Given the description of an element on the screen output the (x, y) to click on. 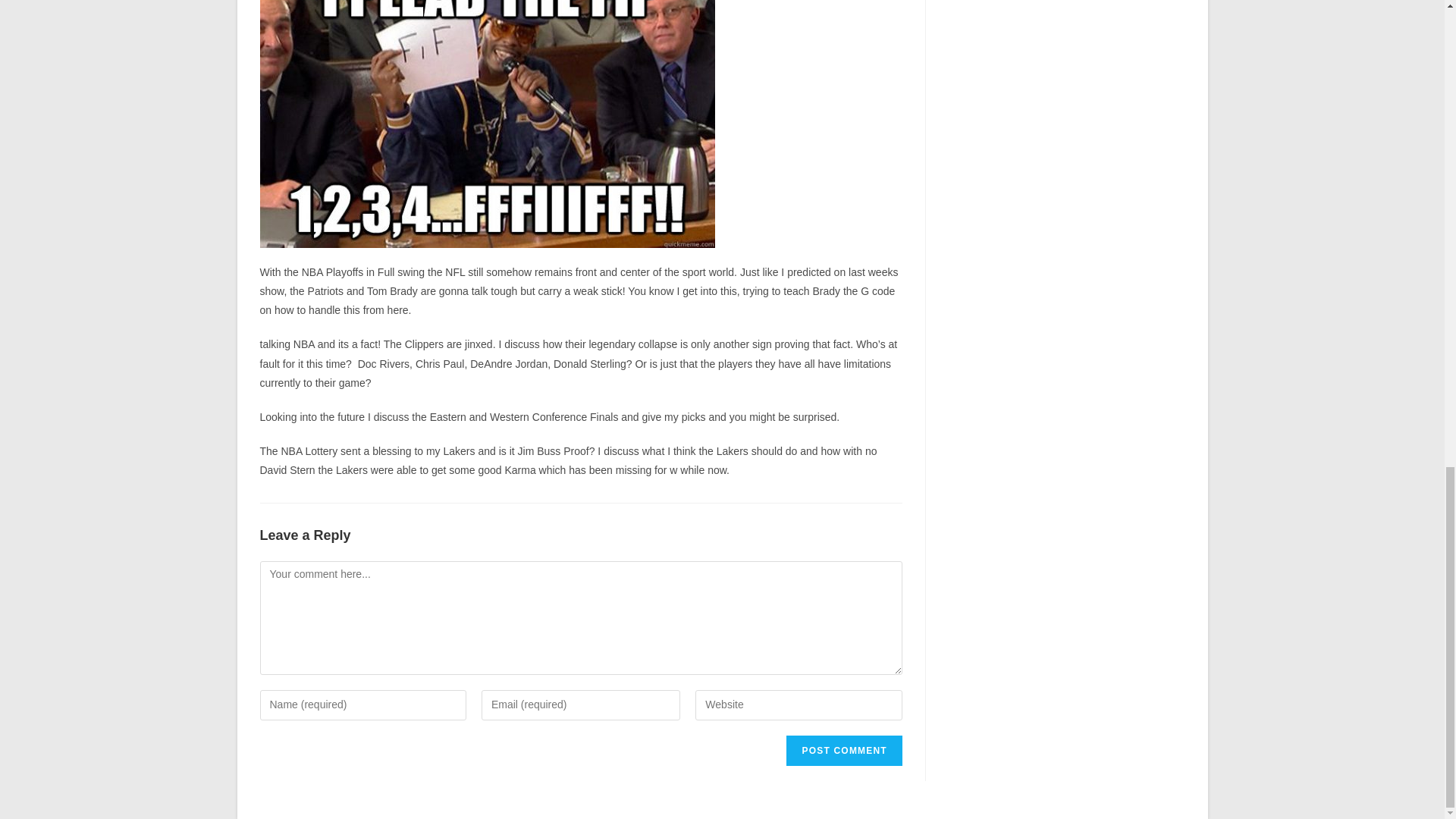
Post Comment (843, 750)
